Given the description of an element on the screen output the (x, y) to click on. 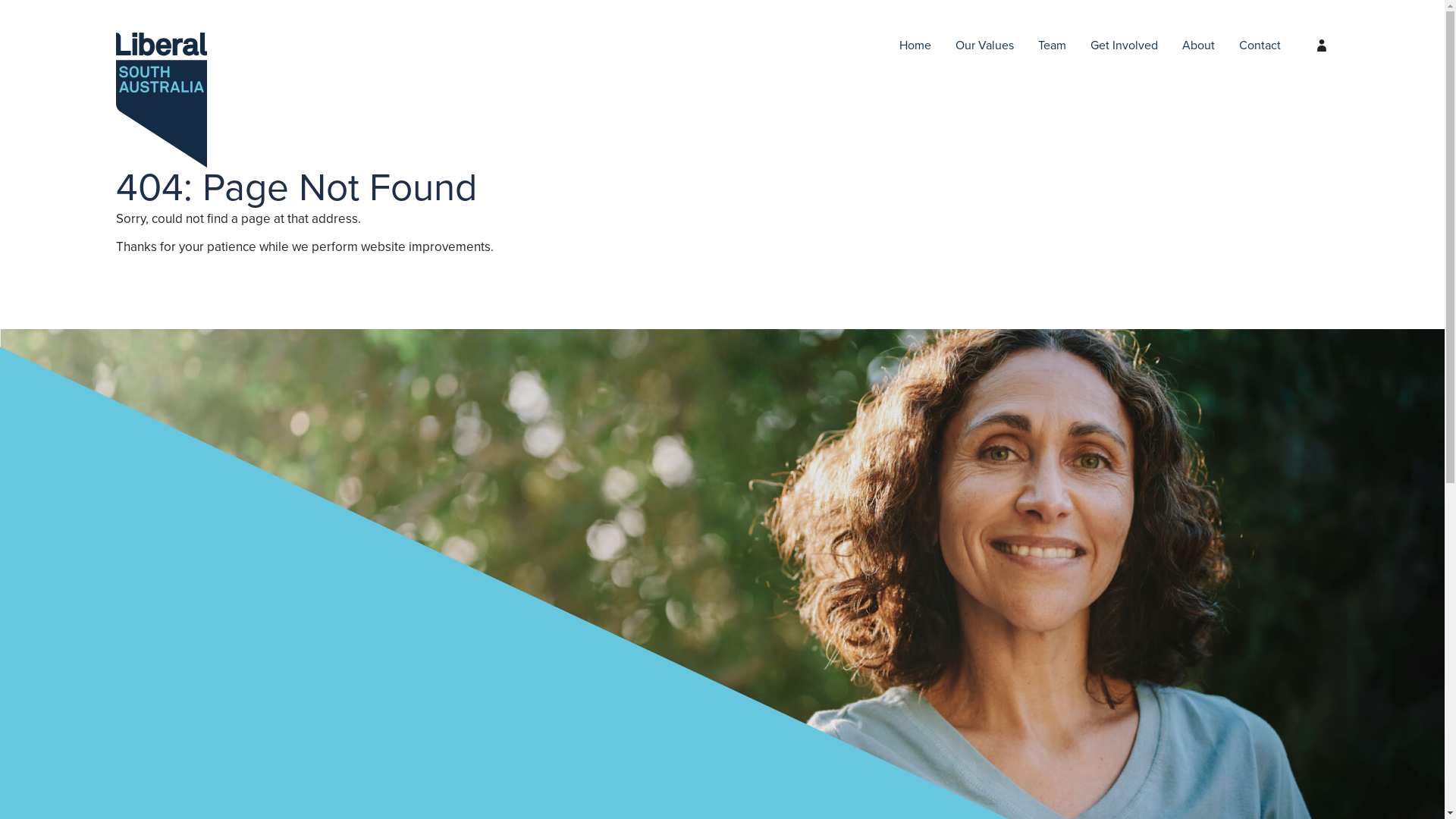
Team Element type: text (1052, 45)
Home Element type: text (915, 45)
Contact Element type: text (1259, 45)
Get Involved Element type: text (1124, 45)
Our Values Element type: text (984, 45)
About Element type: text (1198, 45)
